Given the description of an element on the screen output the (x, y) to click on. 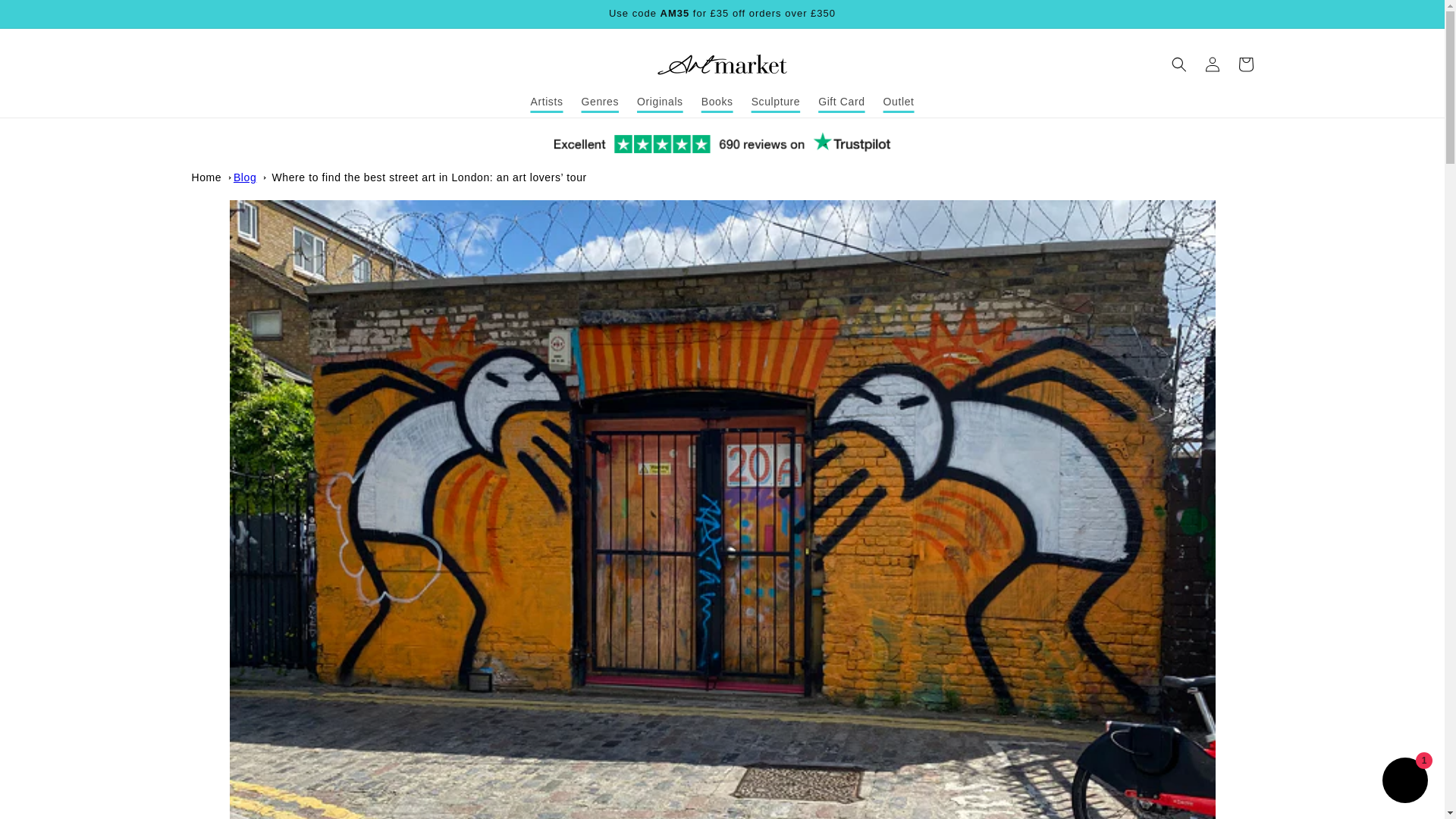
Gift Card (841, 101)
Log in (1211, 64)
Originals (660, 101)
Shopify online store chat (1404, 781)
Genres (600, 101)
Home (205, 177)
Outlet (899, 101)
Cart (1245, 64)
Sculpture (775, 101)
Books (717, 101)
Skip to content (45, 17)
Artists (546, 101)
Blog (244, 177)
